Given the description of an element on the screen output the (x, y) to click on. 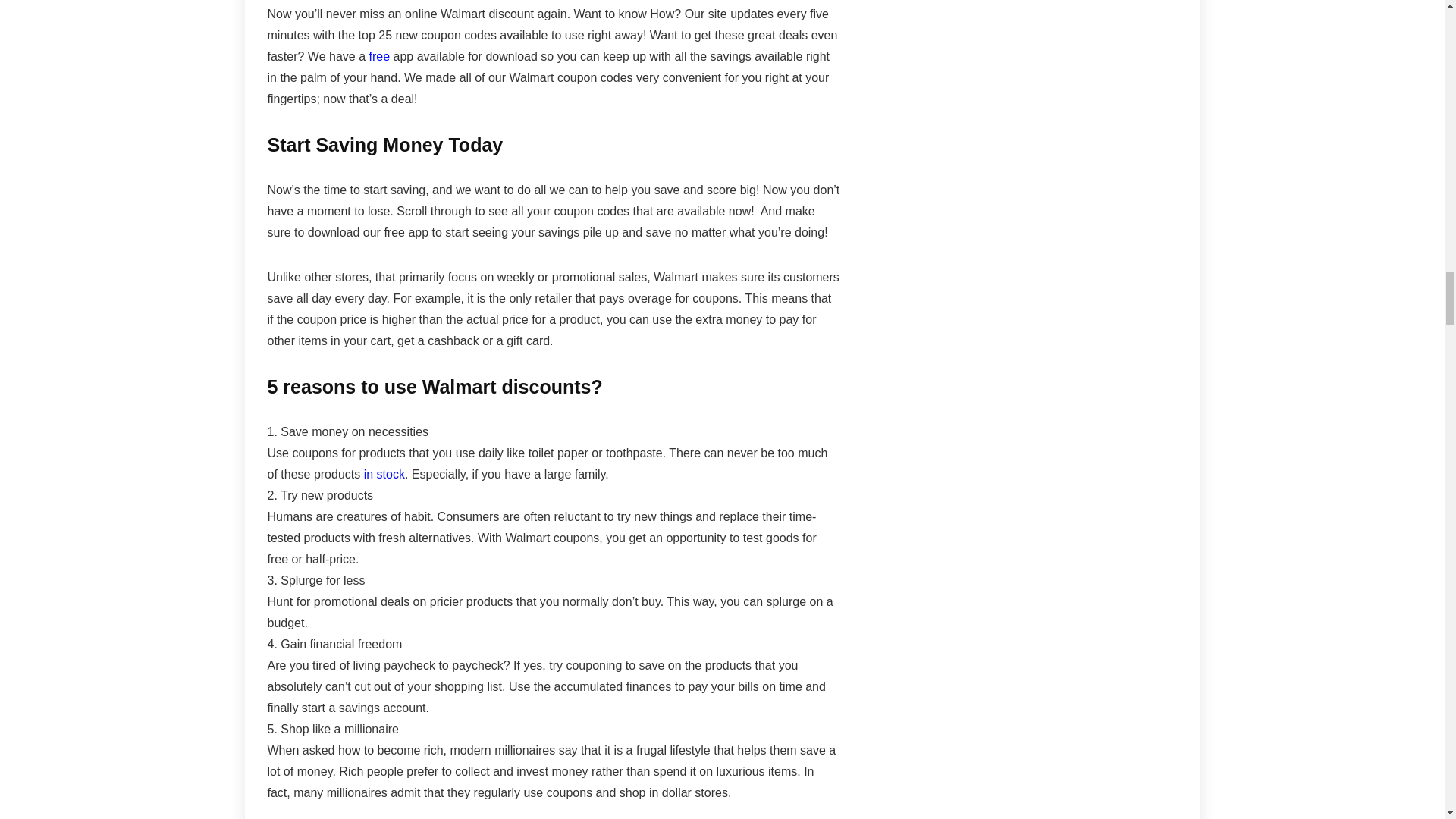
free (379, 56)
